Given the description of an element on the screen output the (x, y) to click on. 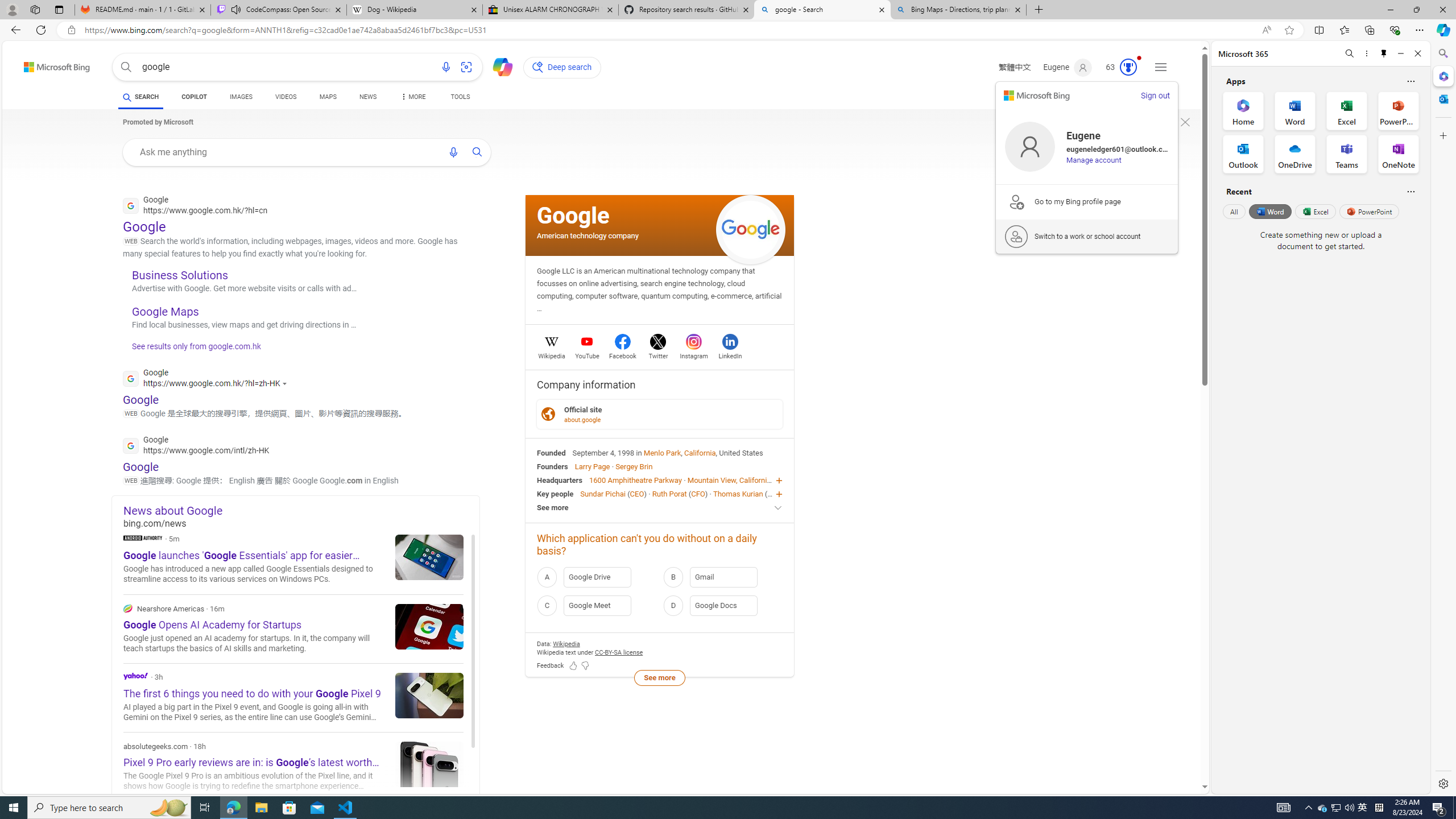
Outlook (1442, 98)
AutomationID: rh_meter (1128, 66)
work signin Switch to a work or school account (1086, 236)
work signin (1015, 236)
All (1233, 210)
Wikipedia (551, 354)
Excel (1315, 210)
Search using voice (452, 151)
Dog - Wikipedia (414, 9)
Ask me anything (285, 151)
Bing Pages Upsell Logo (1016, 201)
